Given the description of an element on the screen output the (x, y) to click on. 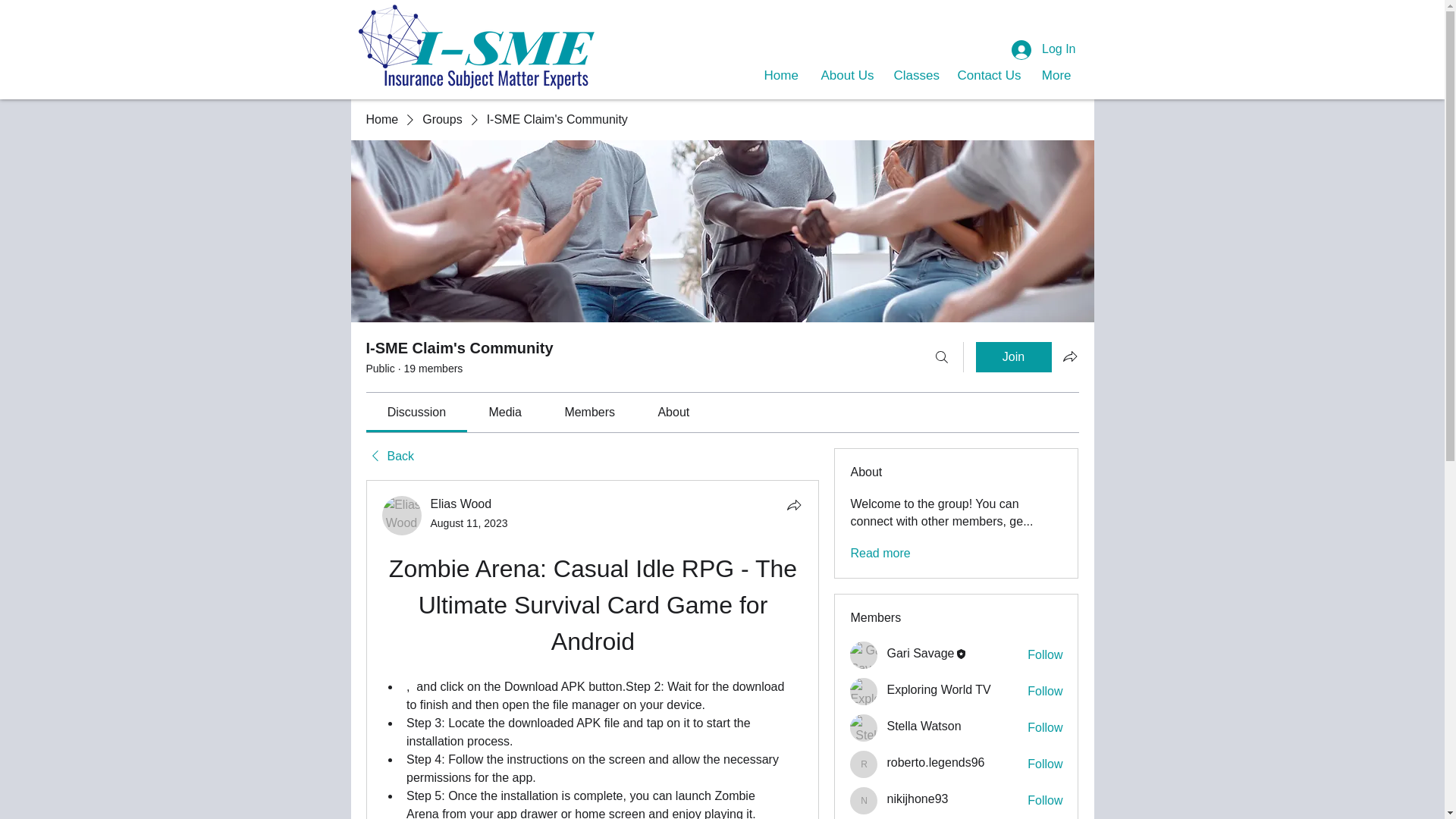
Follow (1044, 691)
Groups (441, 119)
roberto.legends96 (935, 762)
About Us (845, 75)
nikijhone93 (916, 798)
Elias Wood (401, 515)
Follow (1044, 655)
Exploring World TV (938, 689)
Exploring World TV (863, 691)
Follow (1044, 764)
